Given the description of an element on the screen output the (x, y) to click on. 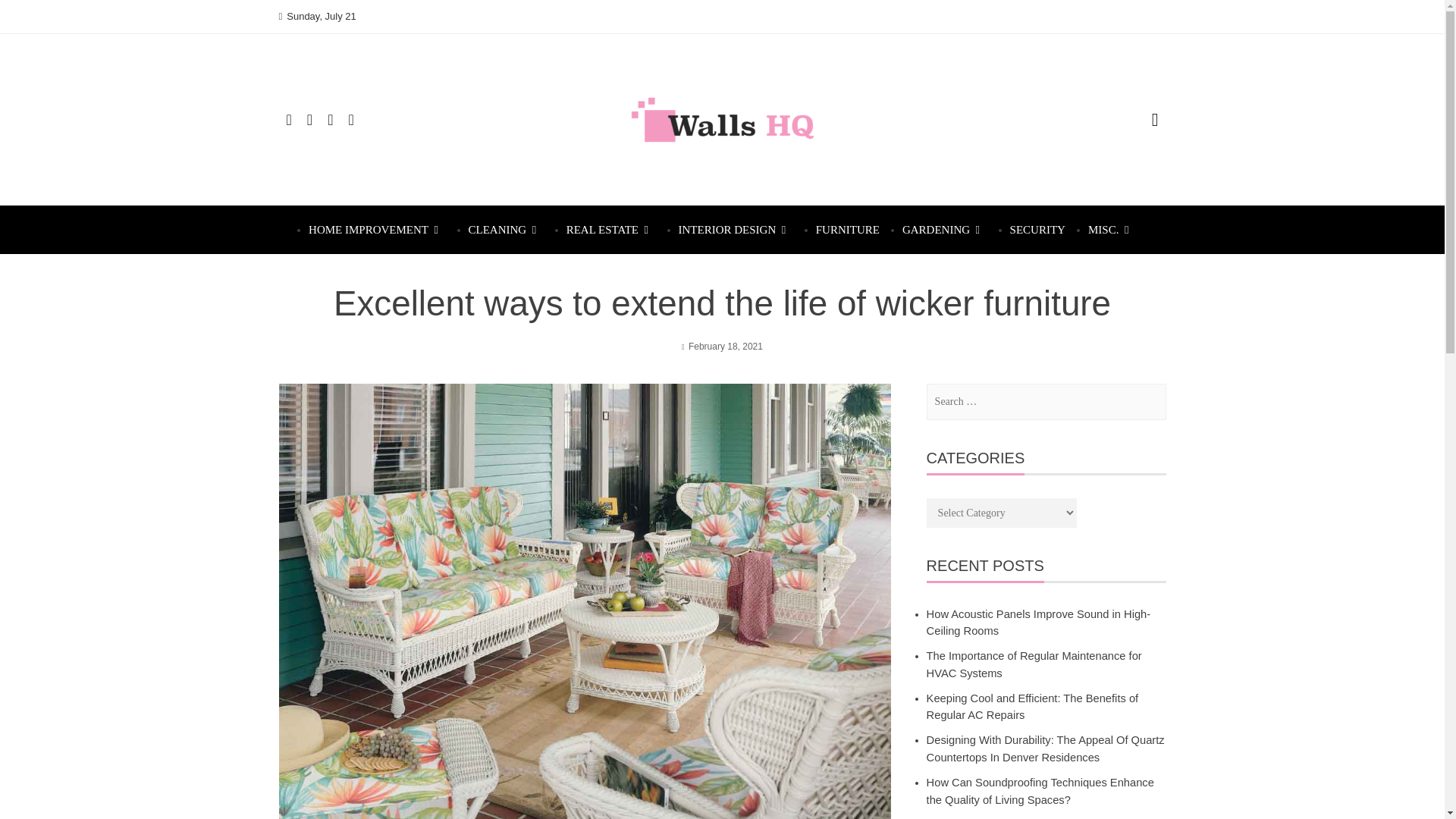
MISC. (1111, 229)
Search (29, 17)
HOME IMPROVEMENT (376, 229)
CLEANING (505, 229)
FURNITURE (847, 229)
The Importance of Regular Maintenance for HVAC Systems (1033, 664)
INTERIOR DESIGN (735, 229)
How Acoustic Panels Improve Sound in High-Ceiling Rooms (1038, 623)
GARDENING (944, 229)
SECURITY (1037, 229)
REAL ESTATE (611, 229)
